Given the description of an element on the screen output the (x, y) to click on. 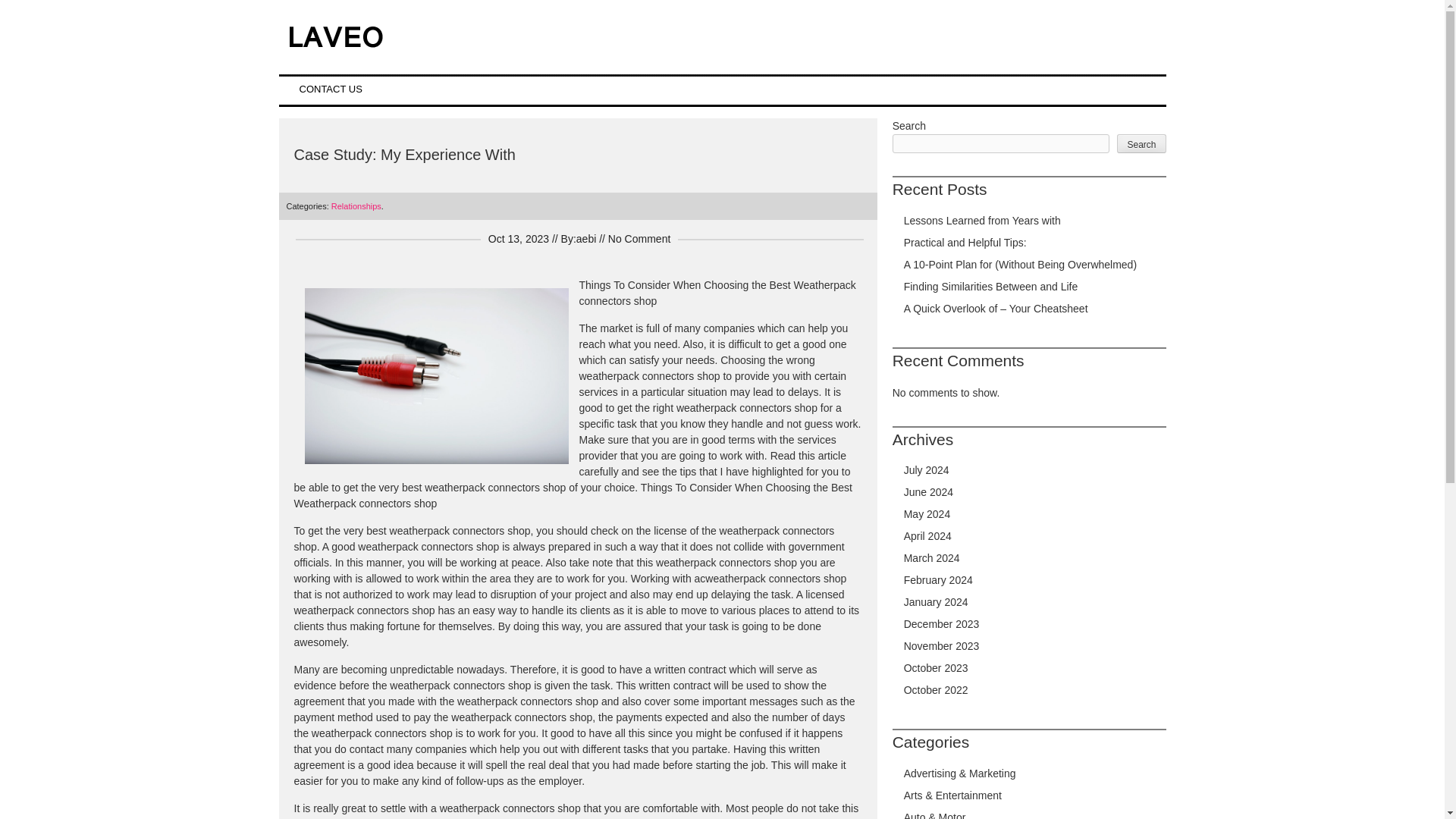
February 2024 (938, 580)
June 2024 (928, 491)
A Simple Plan: (328, 803)
Lessons Learned from Years with (982, 220)
Finding Similarities Between and Life (991, 286)
Practical and Helpful Tips: (965, 242)
January 2024 (936, 602)
December 2023 (941, 623)
October 2022 (936, 689)
CONTACT US (330, 89)
May 2024 (927, 513)
July 2024 (926, 469)
April 2024 (928, 535)
Search (1141, 143)
Relationships (356, 205)
